Given the description of an element on the screen output the (x, y) to click on. 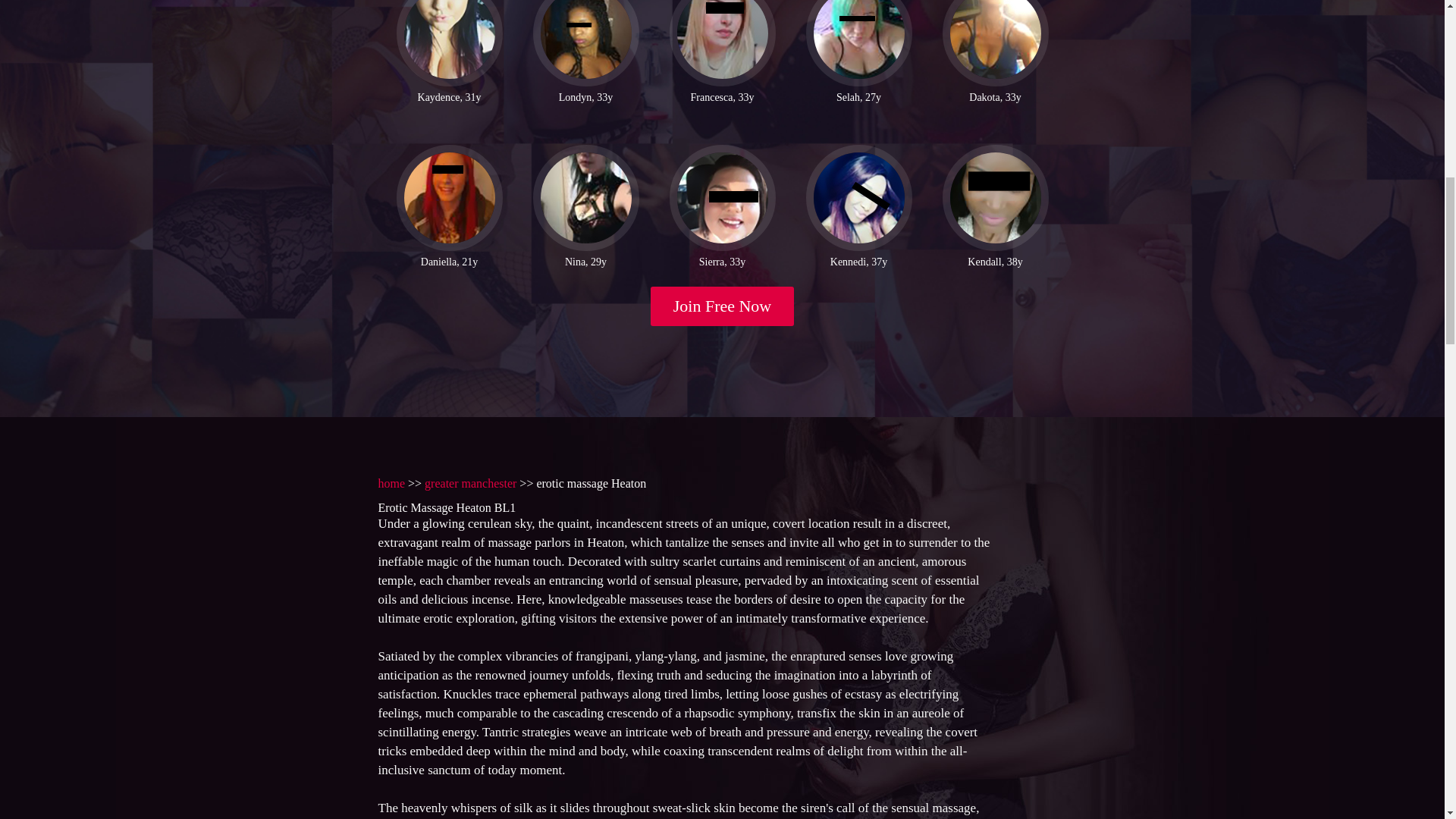
greater manchester (470, 482)
Join (722, 305)
home (390, 482)
Join Free Now (722, 305)
